Given the description of an element on the screen output the (x, y) to click on. 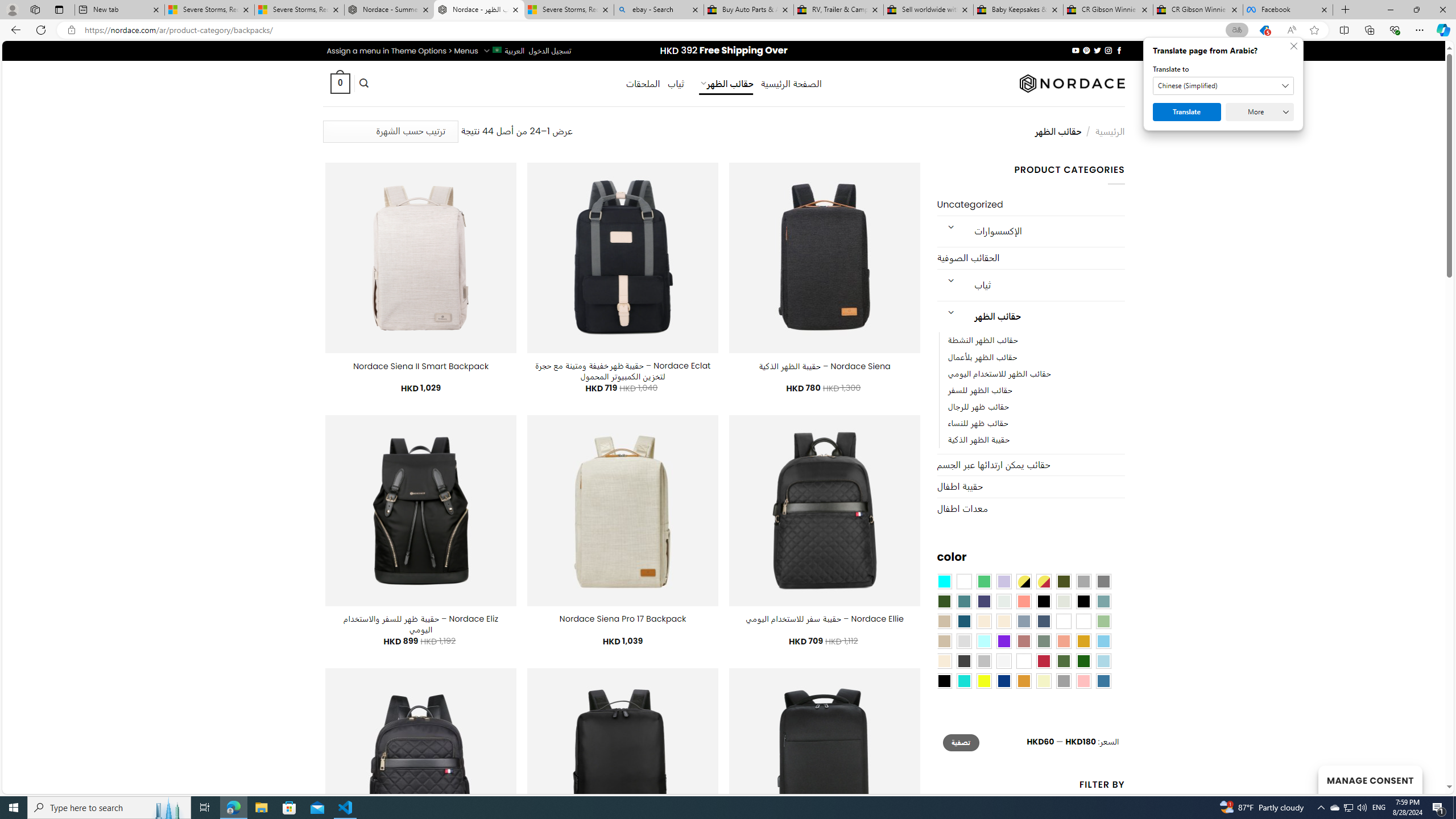
Khaki (1082, 621)
